Given the description of an element on the screen output the (x, y) to click on. 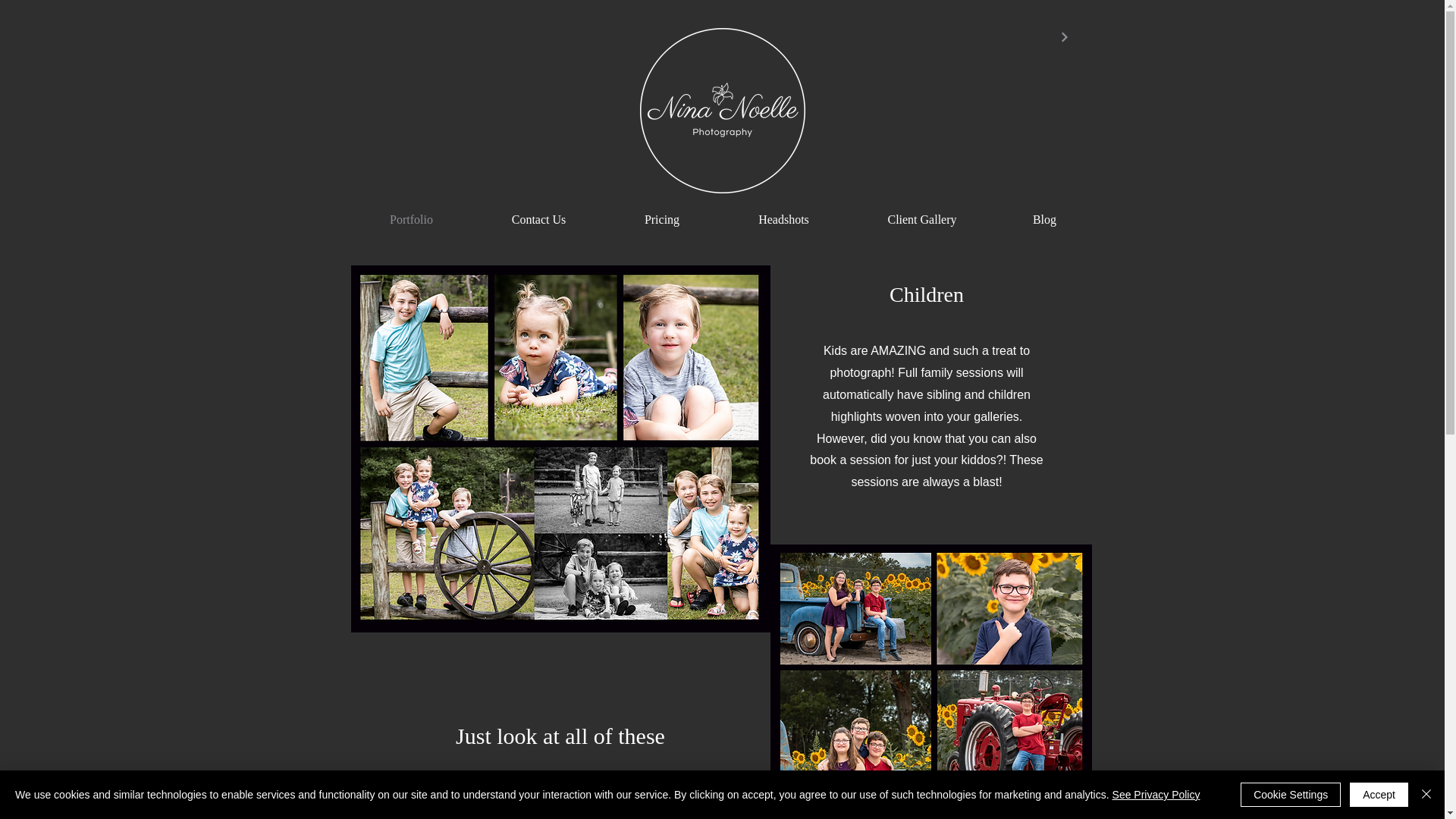
Headshots (783, 219)
See Privacy Policy (1155, 794)
Contact Us (538, 219)
Cookie Settings (1290, 794)
Portfolio (410, 219)
Blog (1043, 219)
Accept (1378, 794)
Pricing (661, 219)
Client Gallery (921, 219)
